Given the description of an element on the screen output the (x, y) to click on. 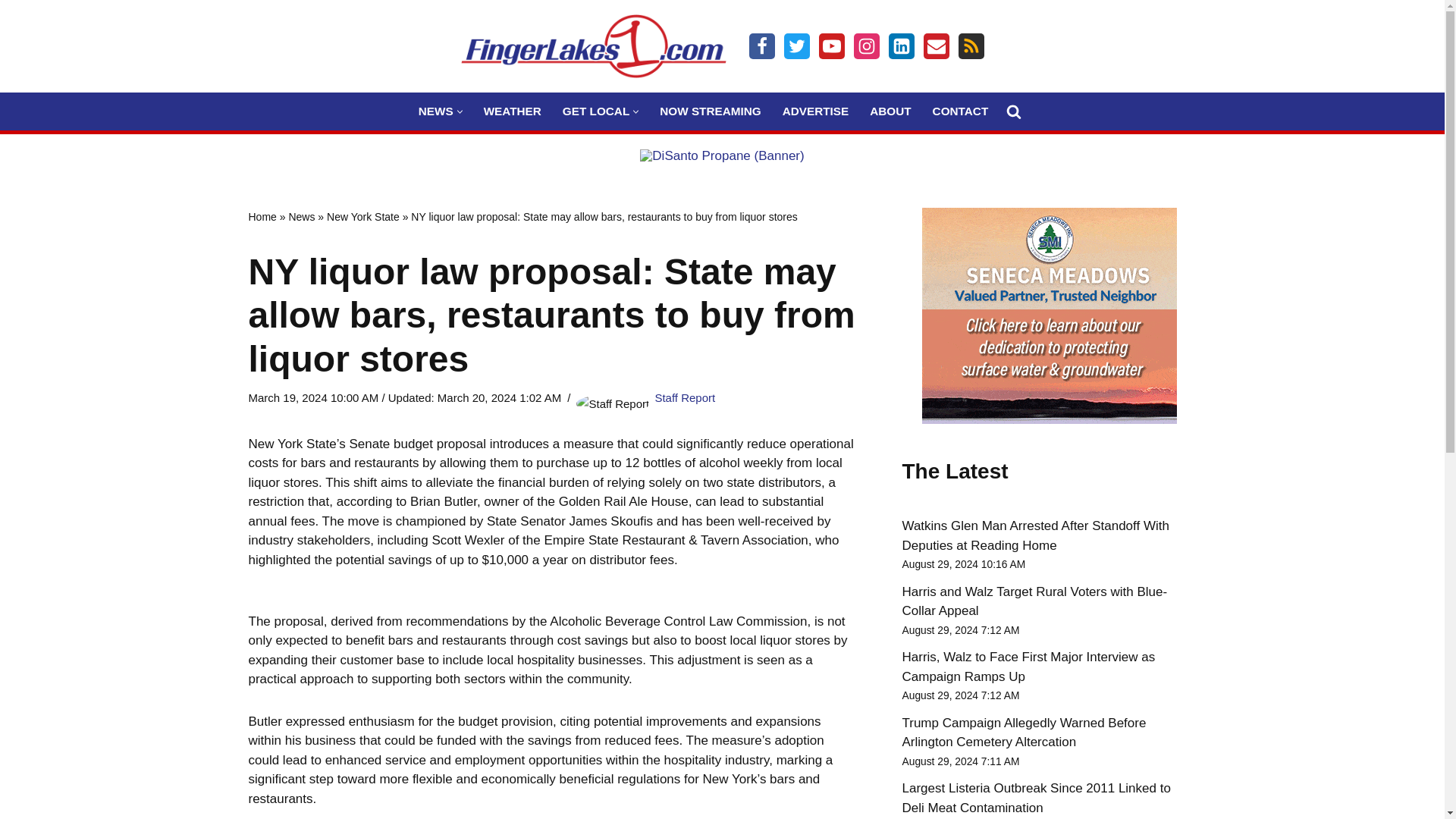
NEWS (435, 111)
CONTACT (960, 111)
NOW STREAMING (709, 111)
Feed (971, 45)
Twitter (796, 45)
Skip to content (11, 31)
Instagram (866, 45)
Facebook (761, 45)
ADVERTISE (815, 111)
Email Us (936, 45)
